Given the description of an element on the screen output the (x, y) to click on. 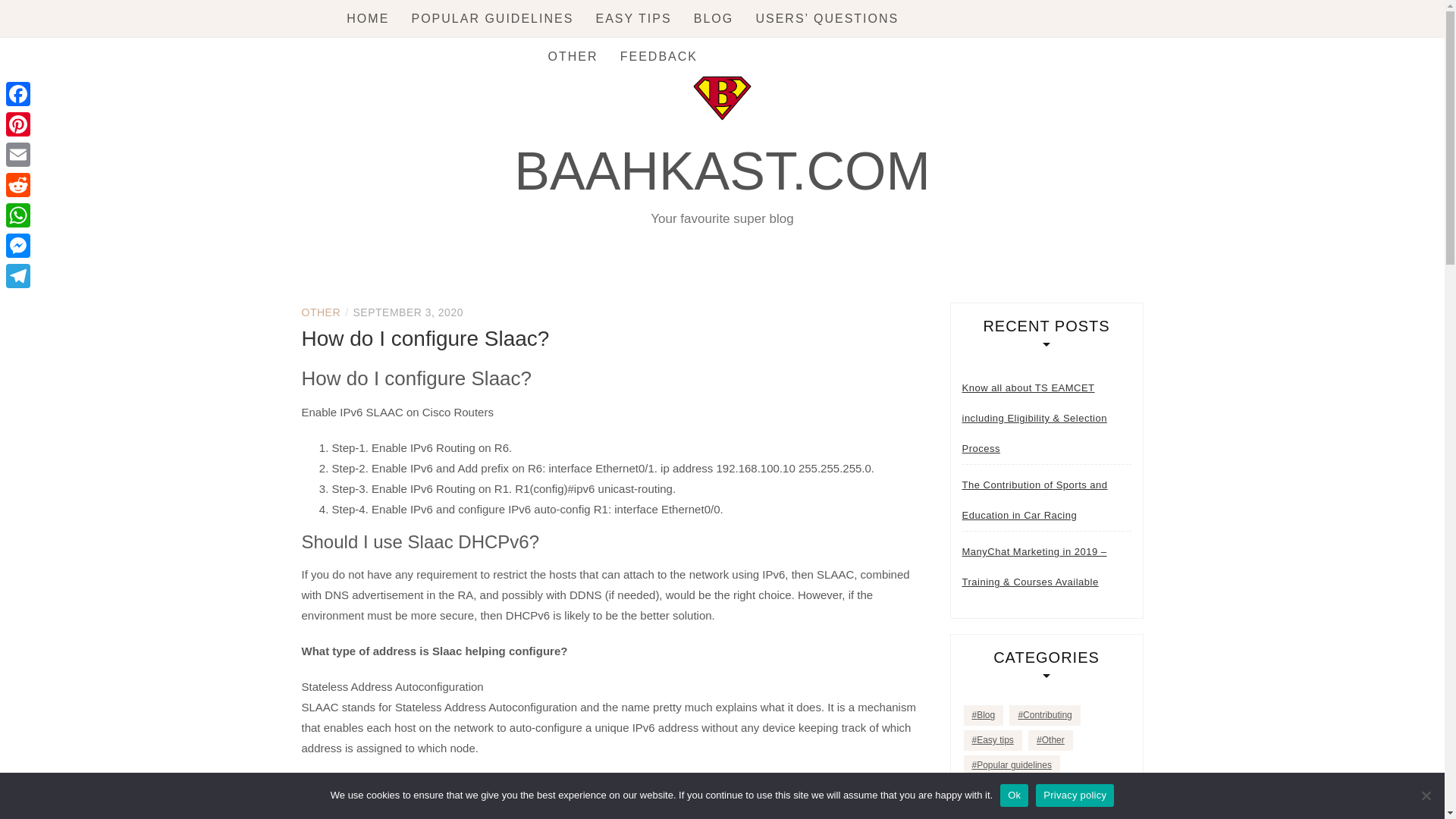
Pinterest (17, 123)
Contributing (1044, 715)
POPULAR GUIDELINES (491, 18)
Reddit (17, 184)
BLOG (713, 18)
WhatsApp (17, 214)
The Contribution of Sports and Education in Car Racing (1045, 500)
Telegram (17, 276)
WhatsApp (17, 214)
BAAHKAST.COM (721, 170)
Facebook (17, 93)
OTHER (320, 312)
Easy tips (992, 740)
Facebook (17, 93)
Popular guidelines (1010, 765)
